Given the description of an element on the screen output the (x, y) to click on. 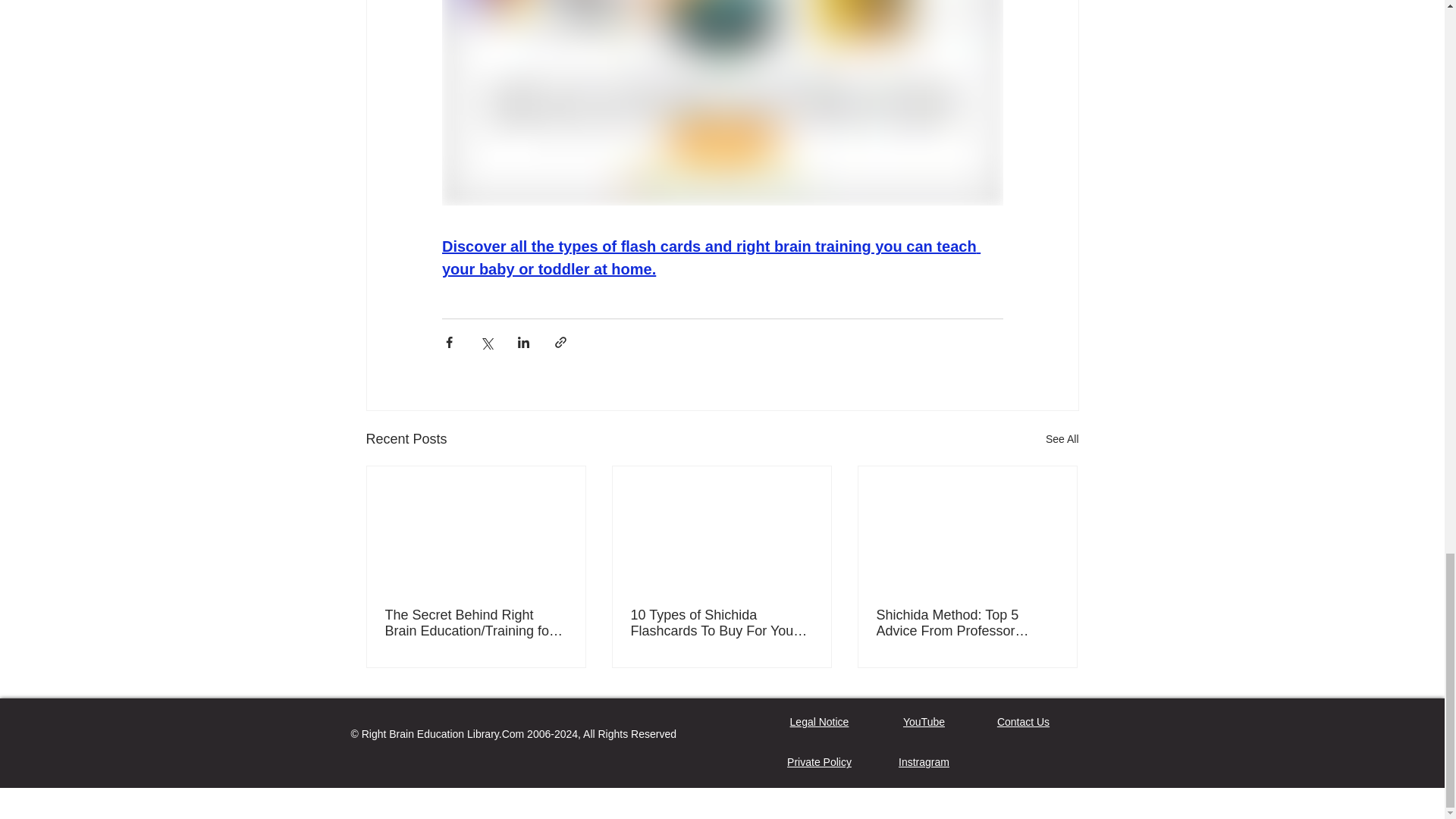
See All (1061, 439)
Shichida Method: Top 5 Advice From Professor Makoto Shichida (967, 623)
Legal Notice (819, 721)
Instragram (923, 761)
YouTube (923, 721)
Private Policy (819, 761)
Contact Us (1023, 721)
